Given the description of an element on the screen output the (x, y) to click on. 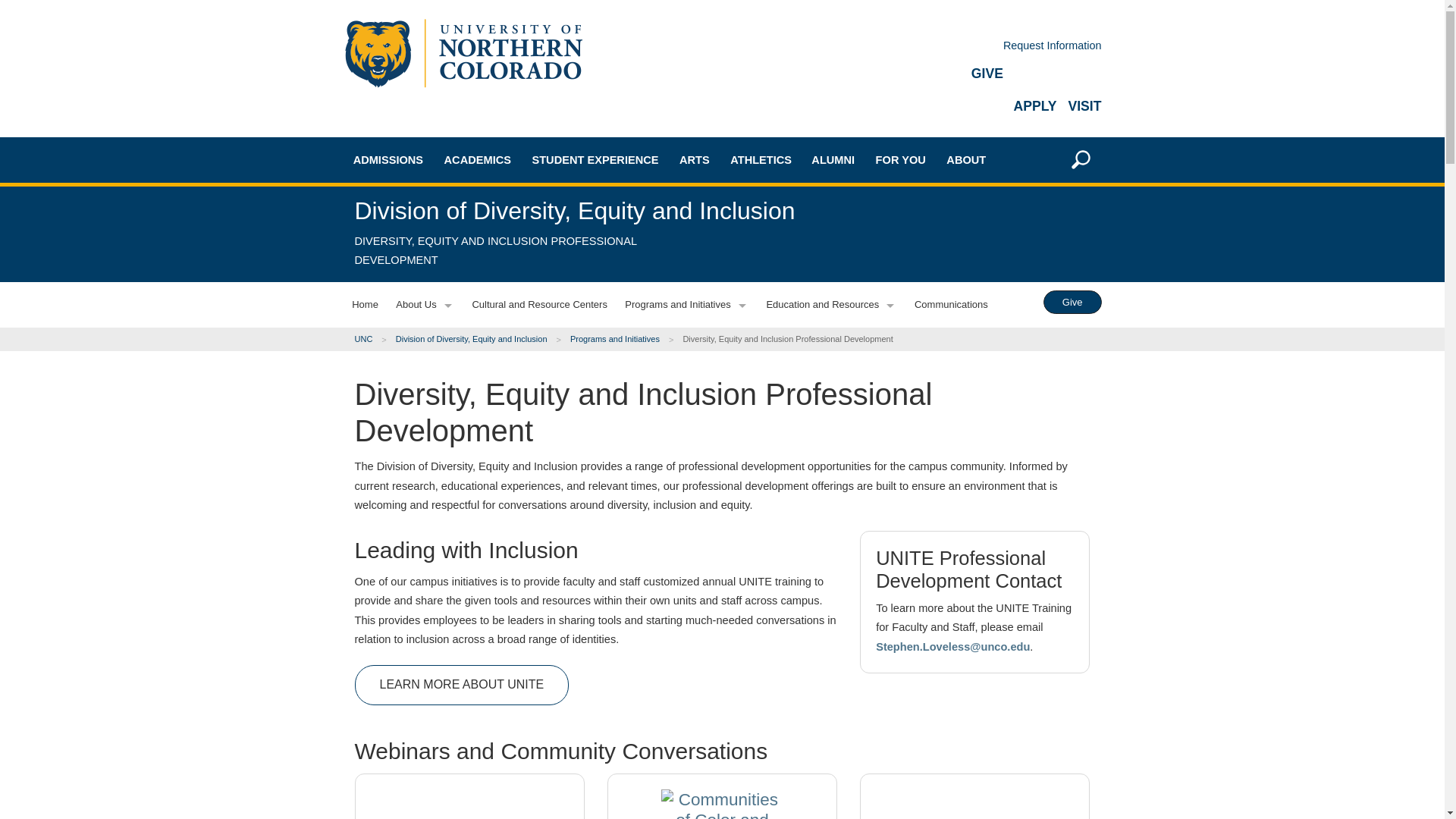
Bookstore (509, 393)
Education Abroad (509, 313)
Orientation (418, 509)
Graduate Programs (509, 260)
Search (1067, 370)
International (418, 307)
Apply (418, 536)
Visit Campus (418, 456)
Request Information (1052, 45)
Schedule of Classes (509, 366)
